Given the description of an element on the screen output the (x, y) to click on. 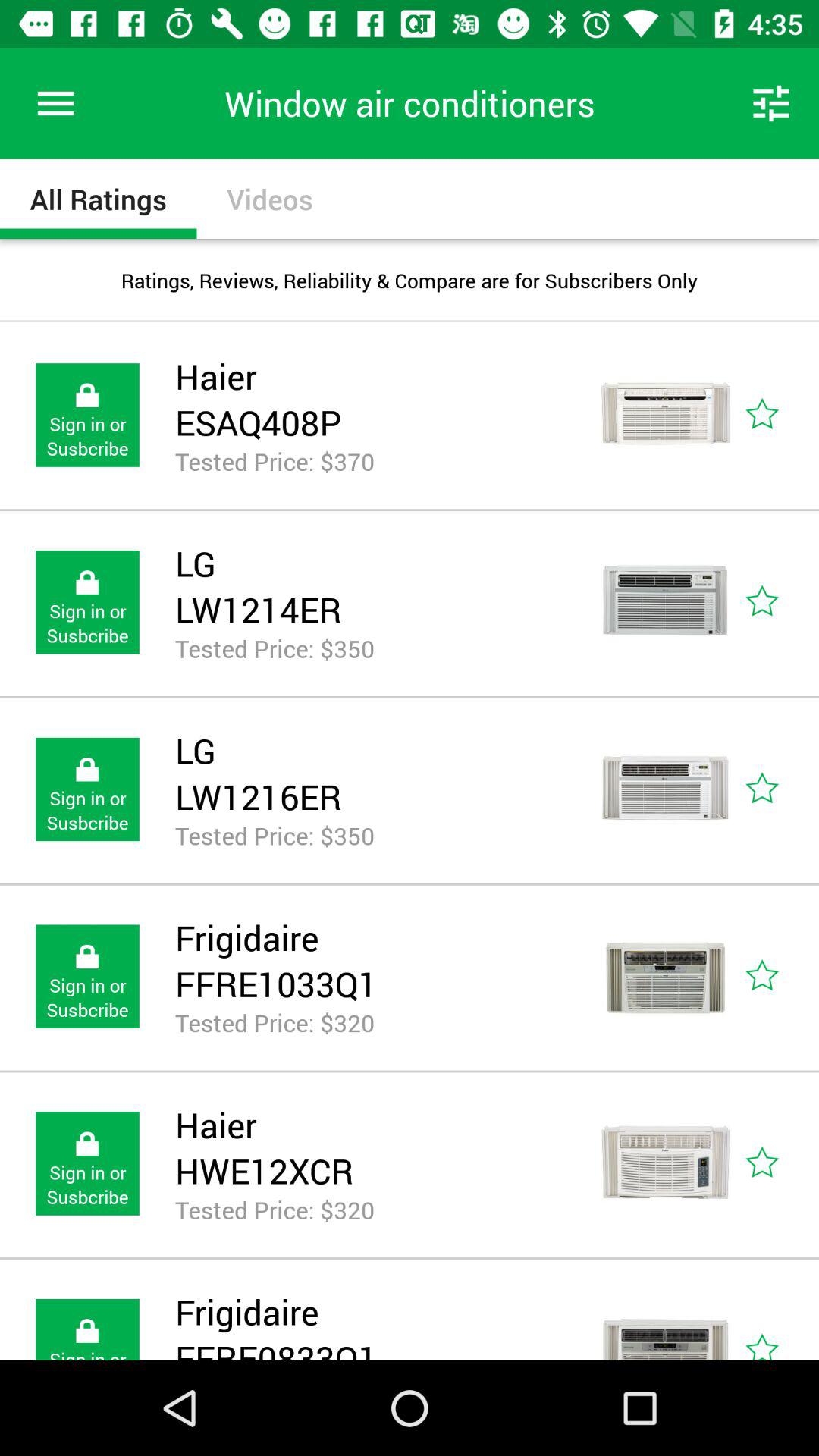
favourite (779, 1163)
